Given the description of an element on the screen output the (x, y) to click on. 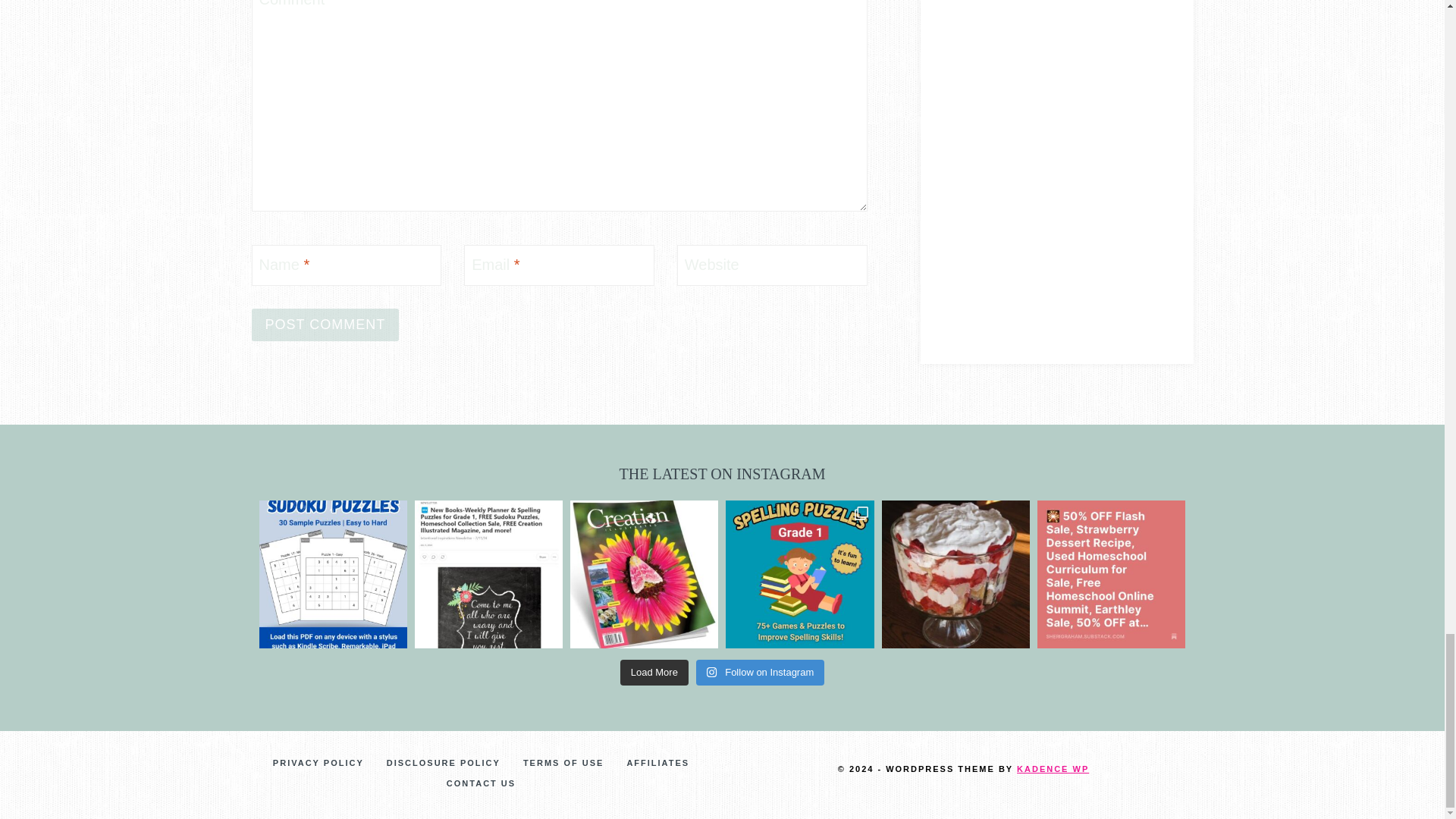
Post Comment (324, 324)
